Given the description of an element on the screen output the (x, y) to click on. 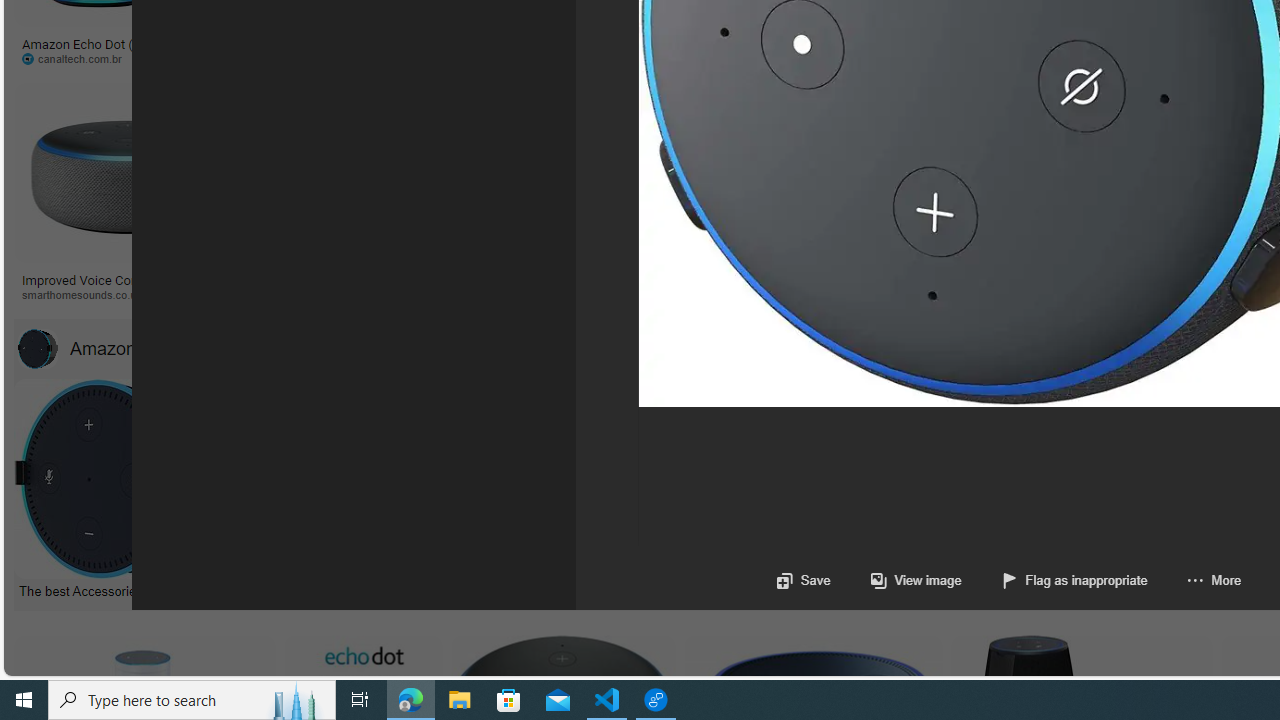
canaltech.com.br (78, 57)
mediamarkt.de (877, 294)
Amazon Echo Dot Accessories (167, 348)
croma.com (816, 57)
View image (895, 580)
Save (802, 580)
Android Central (697, 294)
